Given the description of an element on the screen output the (x, y) to click on. 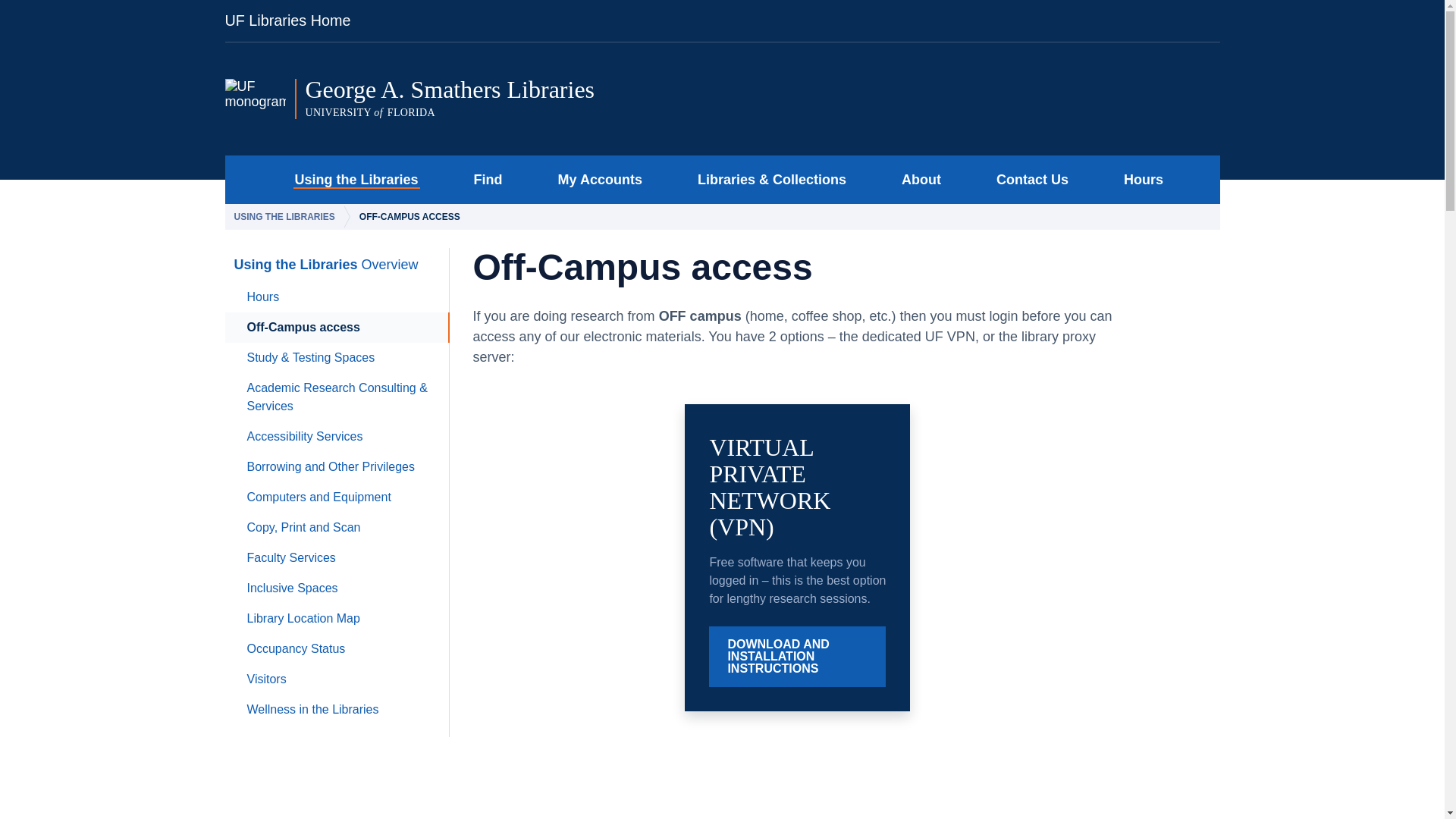
UF Libraries Home (294, 20)
Connecting to the VPN (805, 778)
Skip to main content (515, 98)
Home (351, 179)
